Given the description of an element on the screen output the (x, y) to click on. 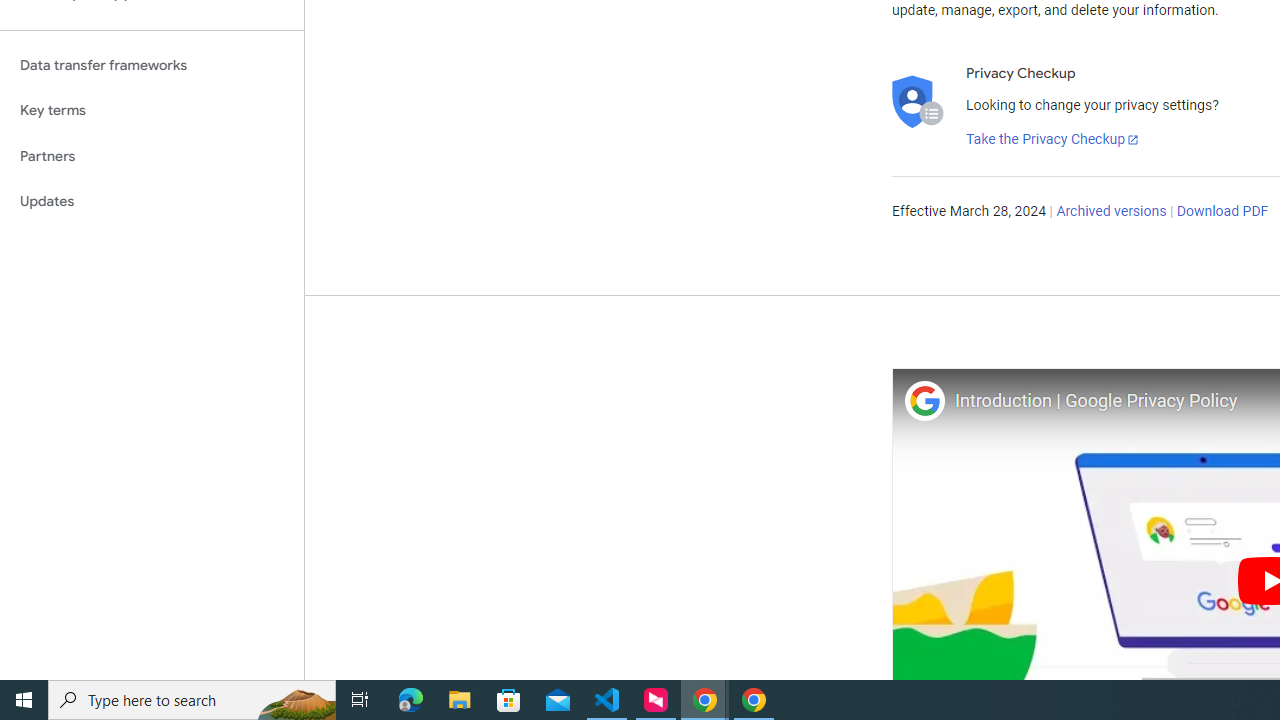
Photo image of Google (924, 400)
Take the Privacy Checkup (1053, 140)
